Given the description of an element on the screen output the (x, y) to click on. 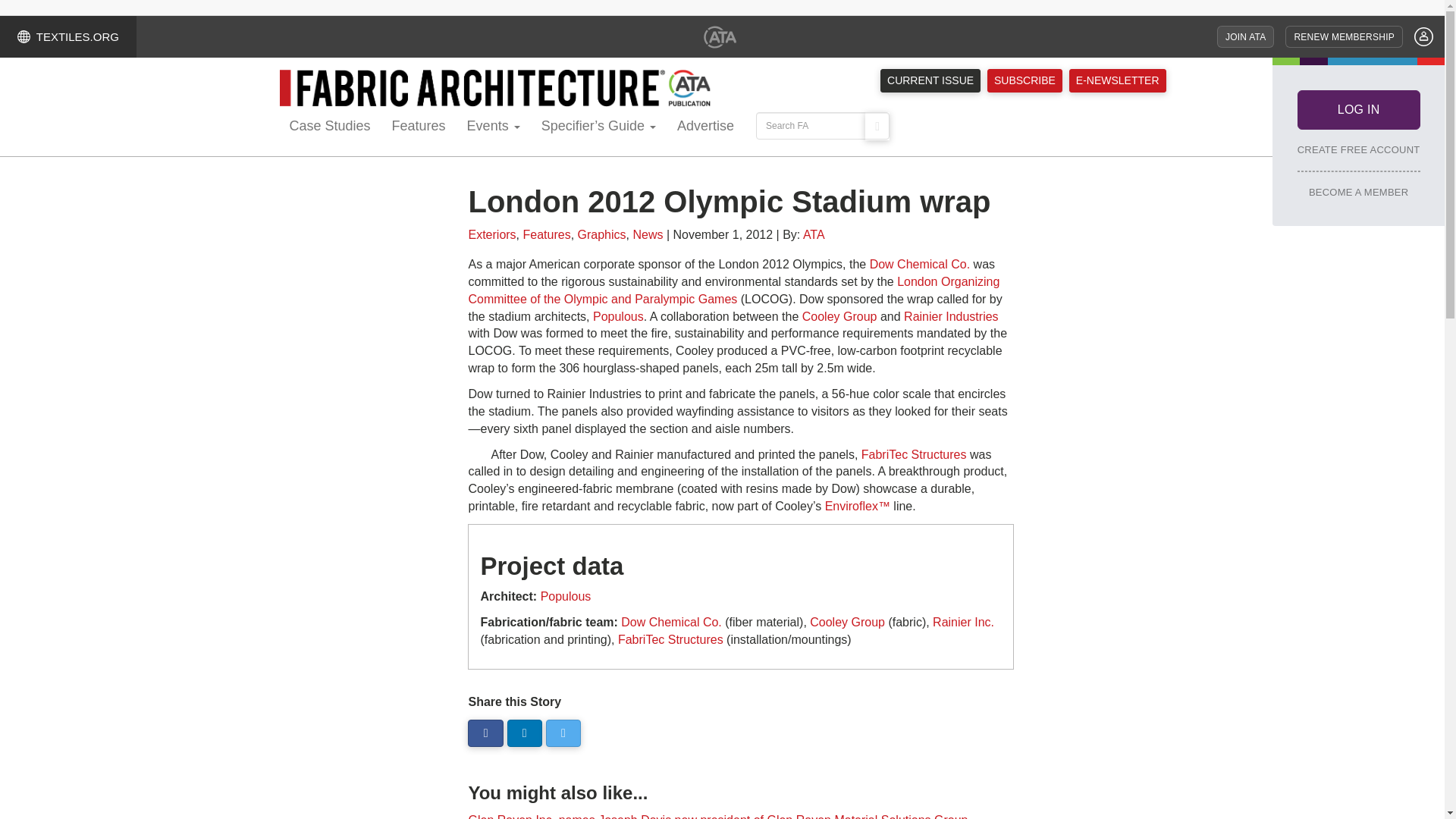
BECOME A MEMBER (1357, 192)
SUBSCRIBE (1024, 80)
Events (494, 127)
Posts by ATA (814, 234)
Follow us on LinkedIn (523, 733)
JOIN ATA (1245, 36)
LOG IN (1359, 108)
CREATE FREE ACCOUNT (1359, 149)
Follow us on Twitter (563, 733)
E-NEWSLETTER (1117, 80)
Advertise (705, 127)
RENEW MEMBERSHIP (1344, 36)
Fabric Architecture Magazine (495, 87)
Case Studies (330, 127)
TEXTILES.ORG (68, 36)
